Given the description of an element on the screen output the (x, y) to click on. 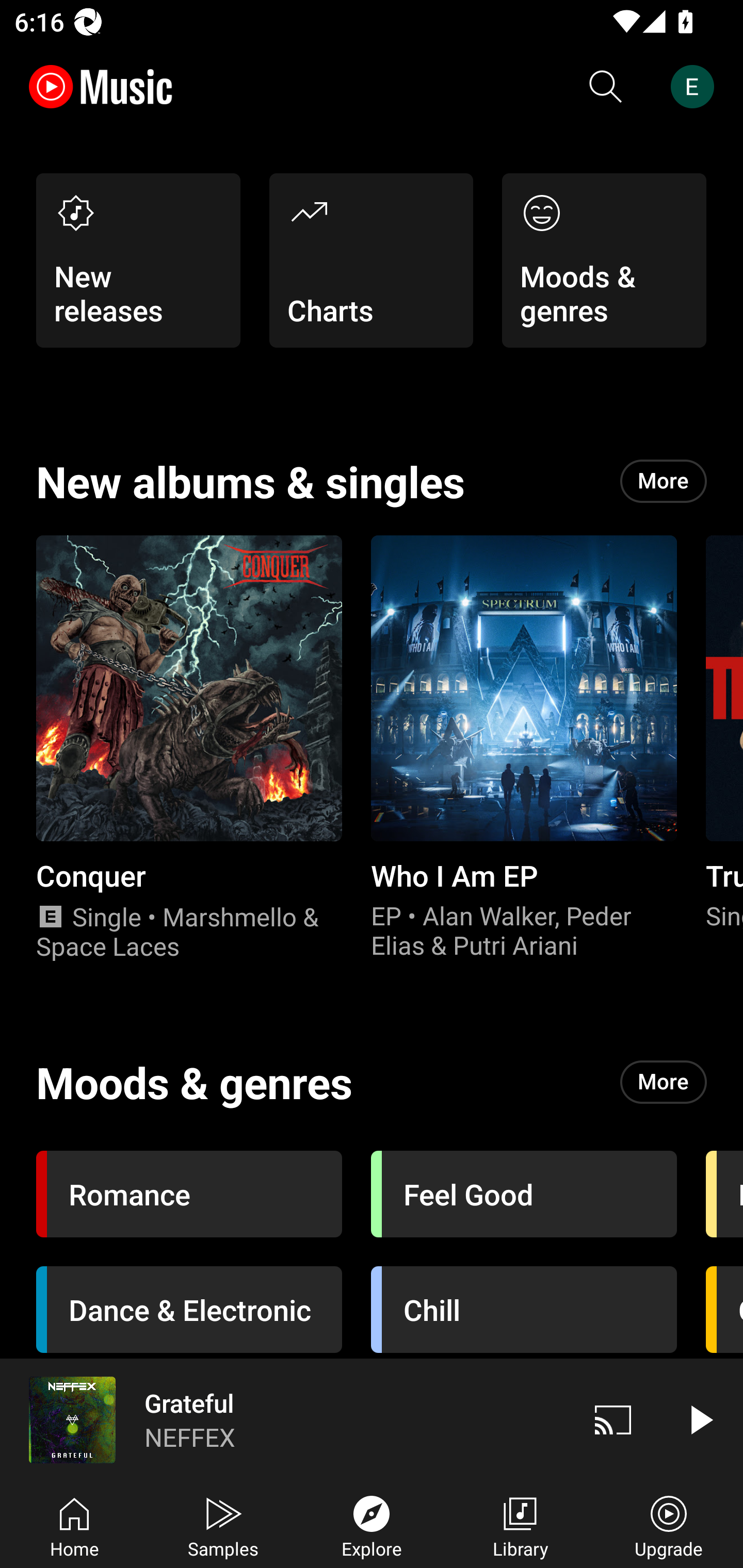
Search (605, 86)
Account (696, 86)
Grateful NEFFEX (284, 1419)
Cast. Disconnected (612, 1419)
Play video (699, 1419)
Home (74, 1524)
Samples (222, 1524)
Library (519, 1524)
Upgrade (668, 1524)
